Given the description of an element on the screen output the (x, y) to click on. 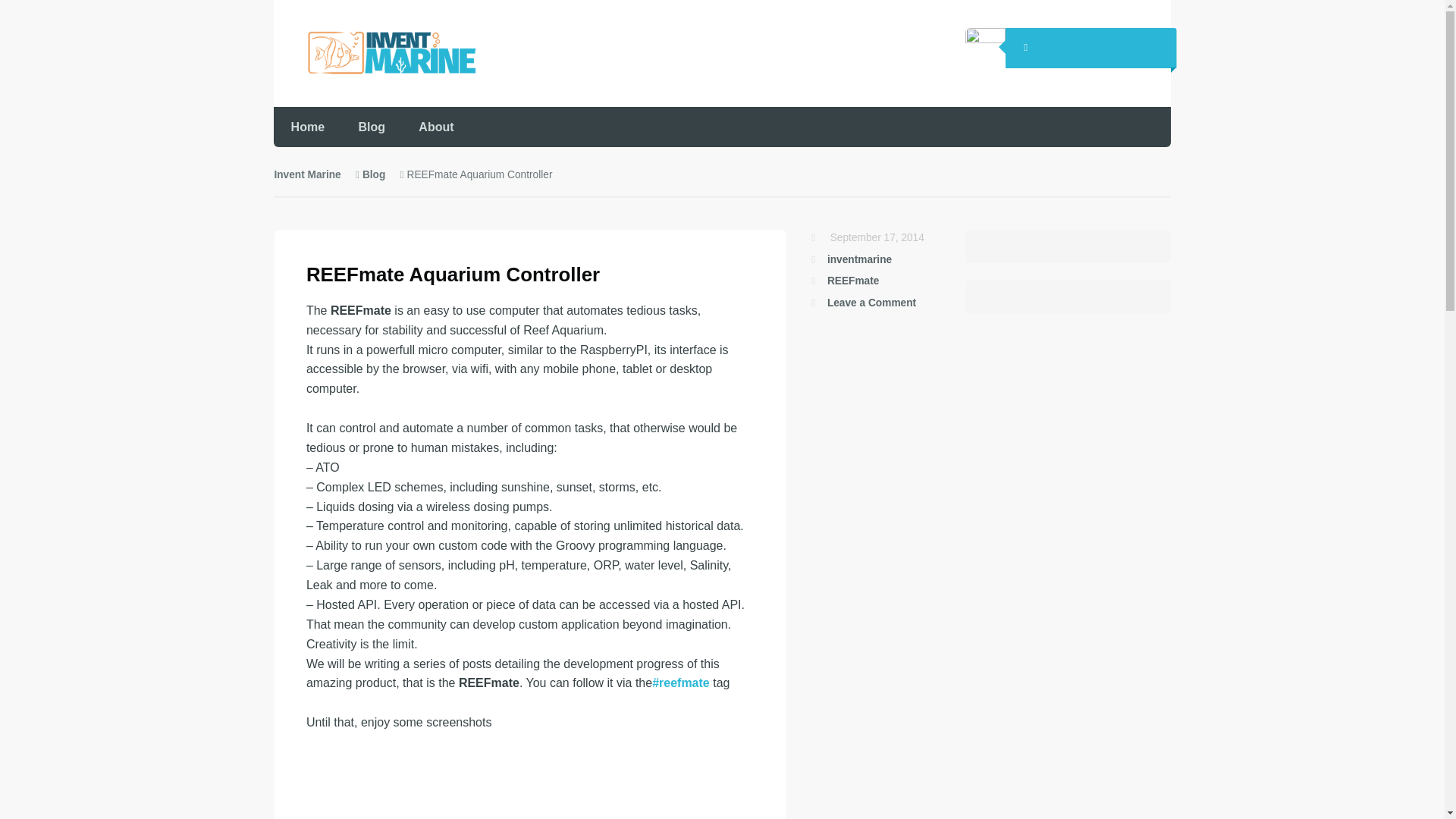
Blog (370, 127)
inventmarine (859, 259)
Leave a Comment (871, 302)
About (435, 127)
Home (306, 127)
Invent Marine (306, 174)
Invent Marine (306, 174)
REEFmate (853, 280)
Aquarium Computers (377, 52)
Blog (373, 174)
